Given the description of an element on the screen output the (x, y) to click on. 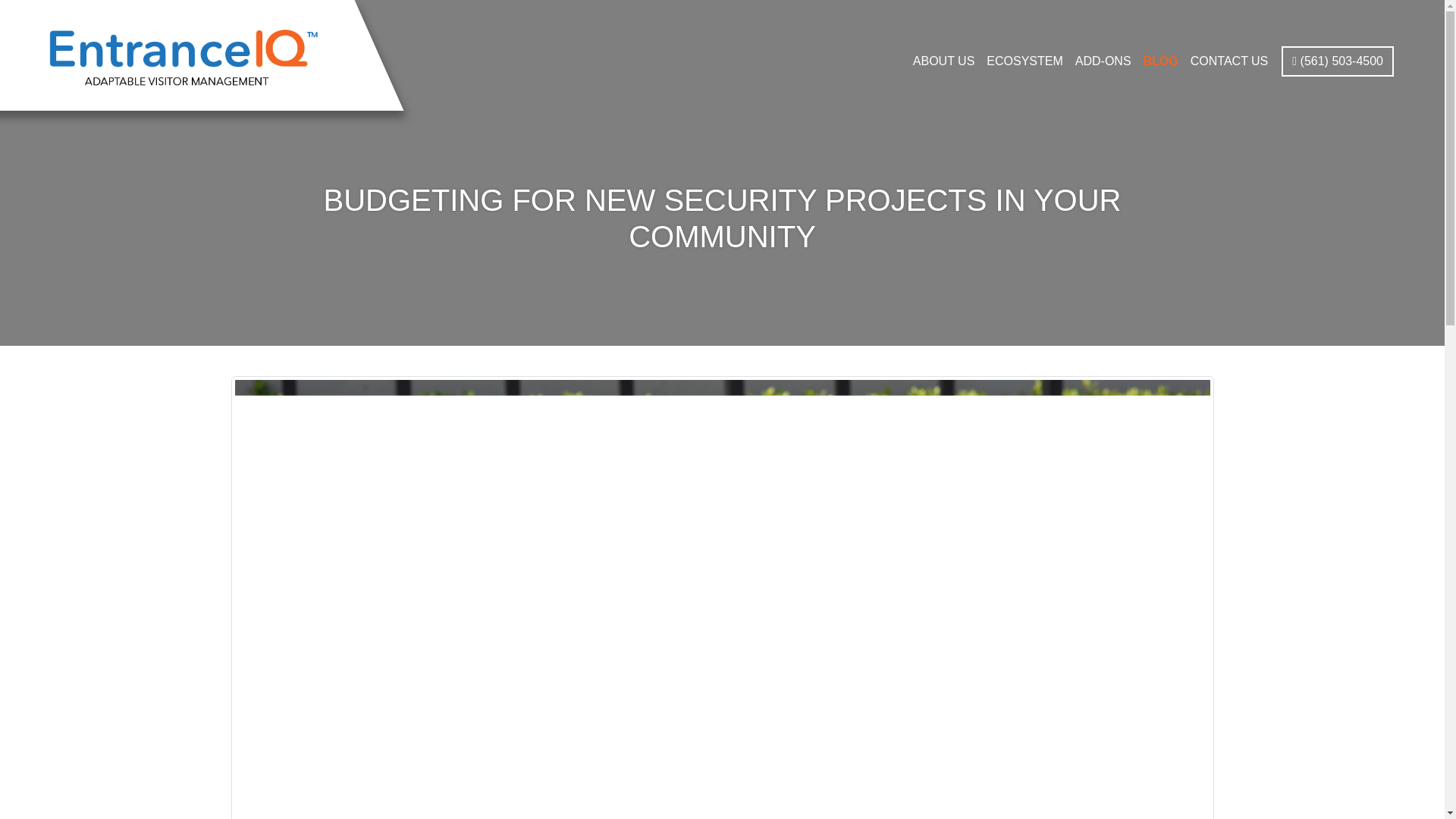
ABOUT US (944, 60)
BLOG (1161, 60)
About us (944, 60)
Add-ons (1102, 60)
Contact Us (1230, 60)
Blog (1161, 60)
ADD-ONS (1102, 60)
CONTACT US (1230, 60)
ECOSYSTEM (1023, 60)
Ecosystem (1023, 60)
